Given the description of an element on the screen output the (x, y) to click on. 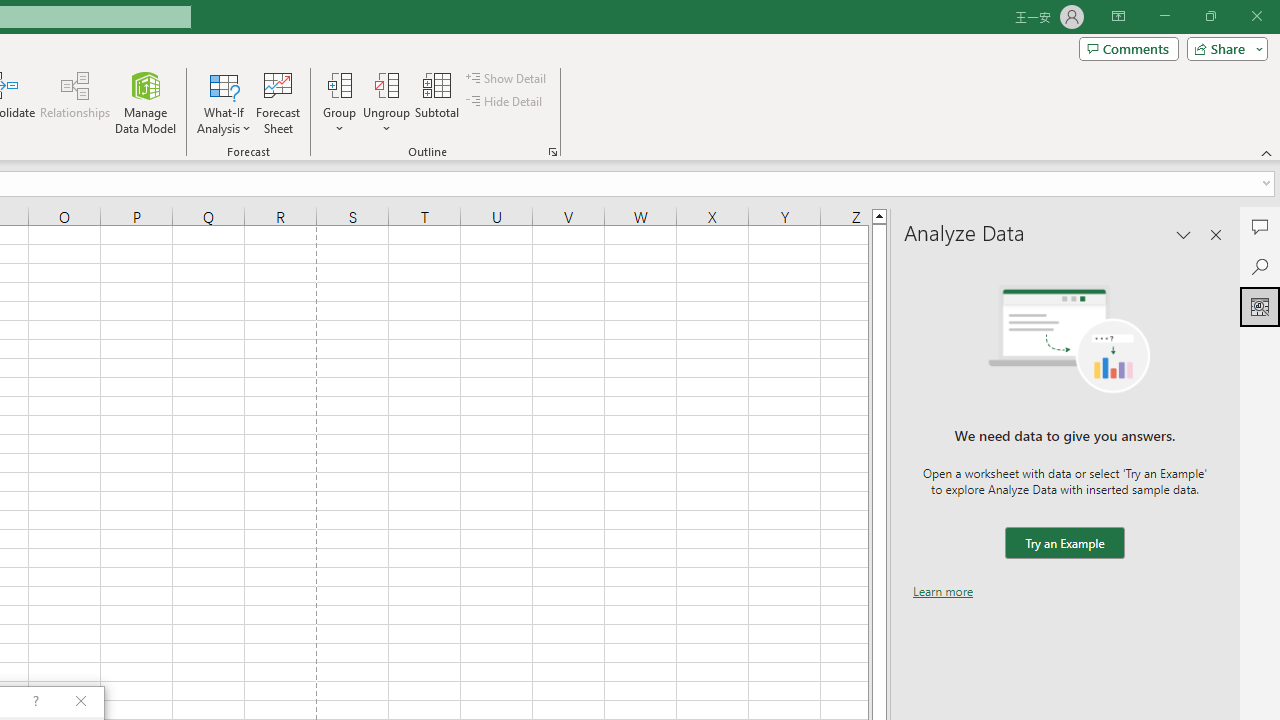
Subtotal (437, 102)
What-If Analysis (223, 102)
Hide Detail (505, 101)
We need data to give you answers. Try an Example (1064, 543)
Analyze Data (1260, 306)
Manage Data Model (145, 102)
Show Detail (507, 78)
